Given the description of an element on the screen output the (x, y) to click on. 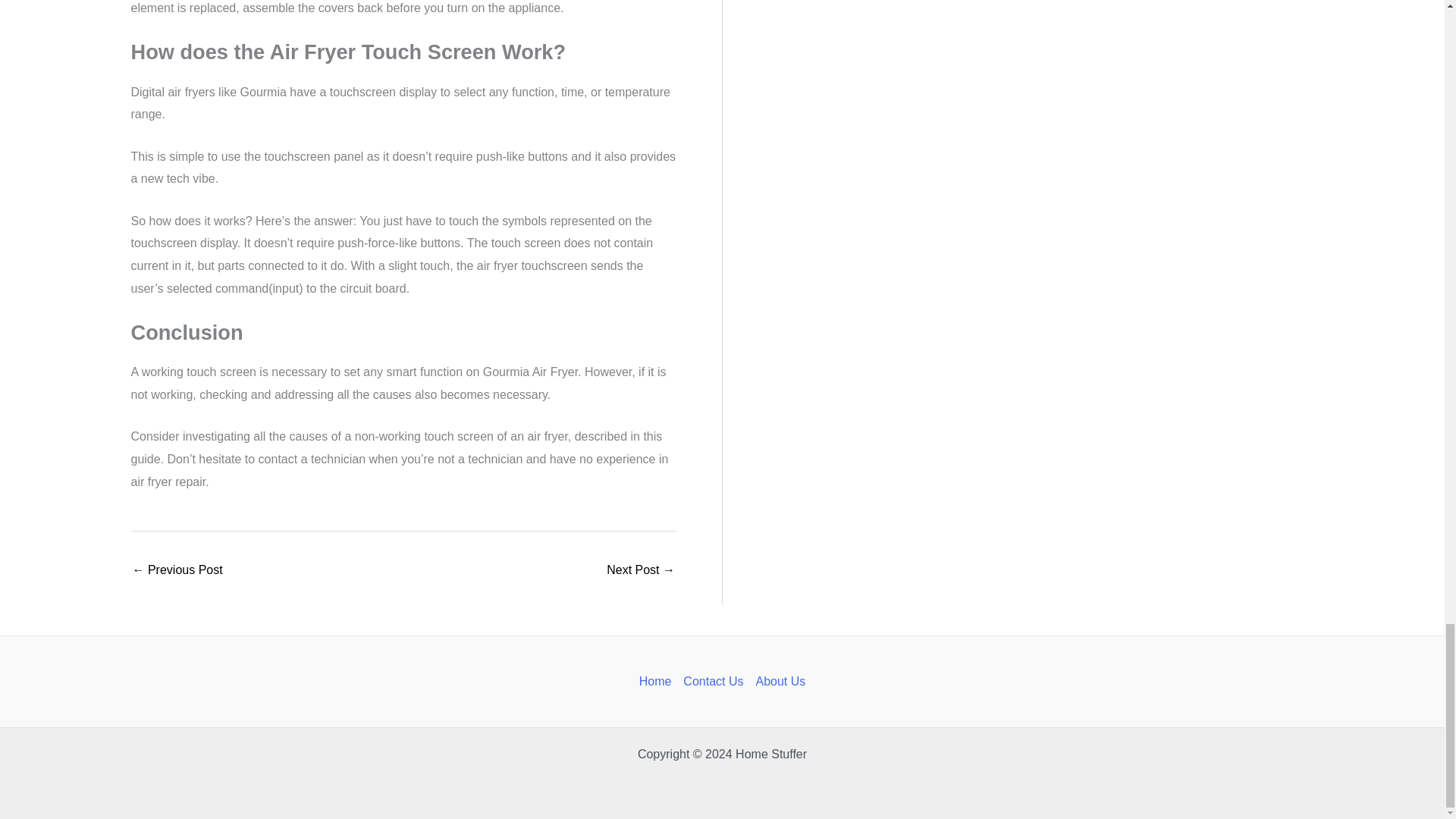
Home (658, 681)
Contact Us (713, 681)
About Us (777, 681)
